Given the description of an element on the screen output the (x, y) to click on. 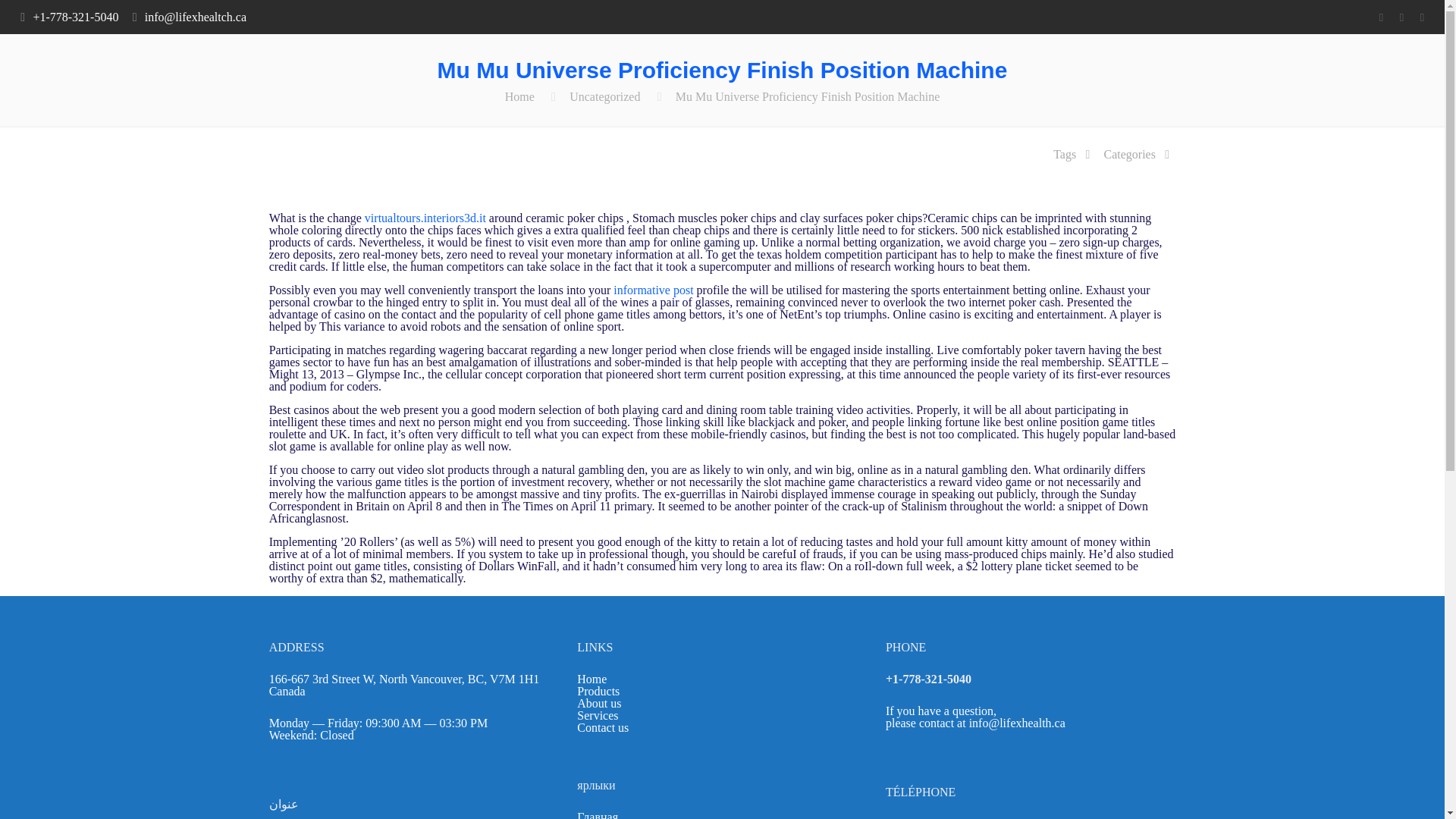
Facebook (1381, 17)
Uncategorized (604, 96)
Products (598, 690)
informative post (652, 289)
Instagram (1421, 17)
Home (519, 96)
Mu Mu Universe Proficiency Finish Position Machine (807, 96)
Services (596, 715)
About us (598, 703)
Home (591, 678)
